Given the description of an element on the screen output the (x, y) to click on. 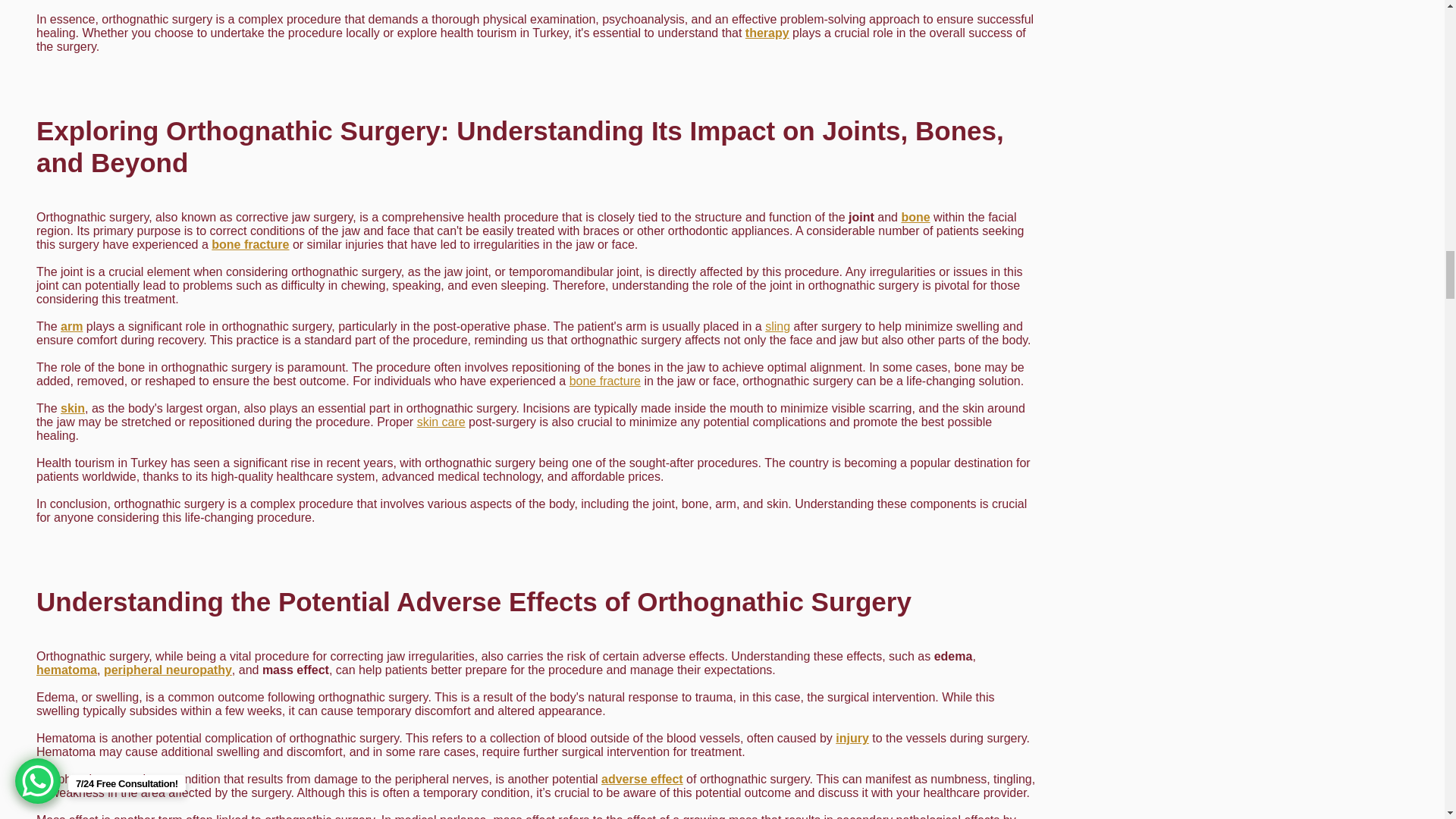
skin care (440, 421)
bone fracture (604, 380)
sling (777, 326)
